Given the description of an element on the screen output the (x, y) to click on. 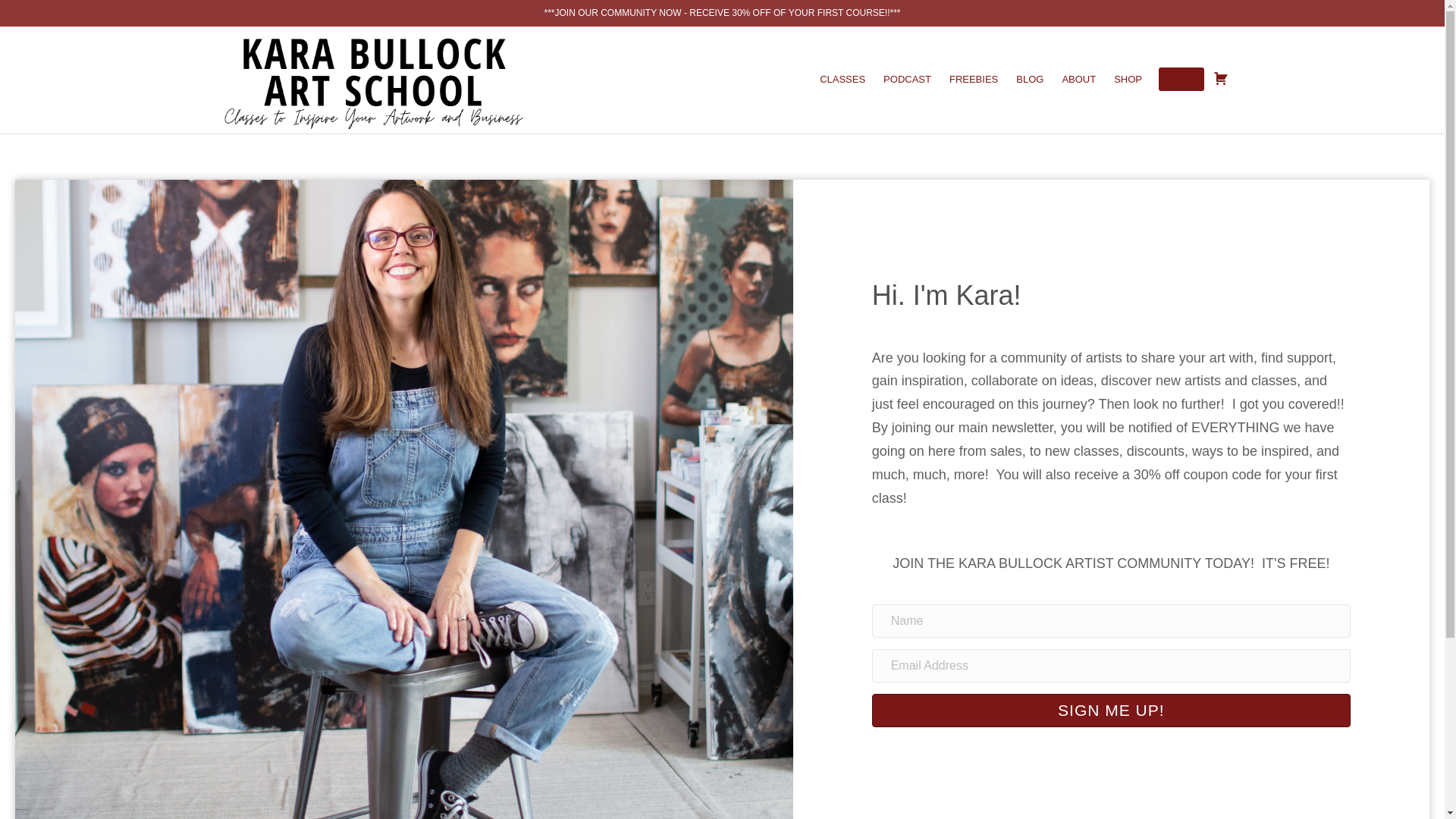
ABOUT (1078, 79)
FREEBIES (973, 79)
BLOG (1029, 79)
SHOP (1128, 79)
PODCAST (907, 79)
CLASSES (842, 79)
